Given the description of an element on the screen output the (x, y) to click on. 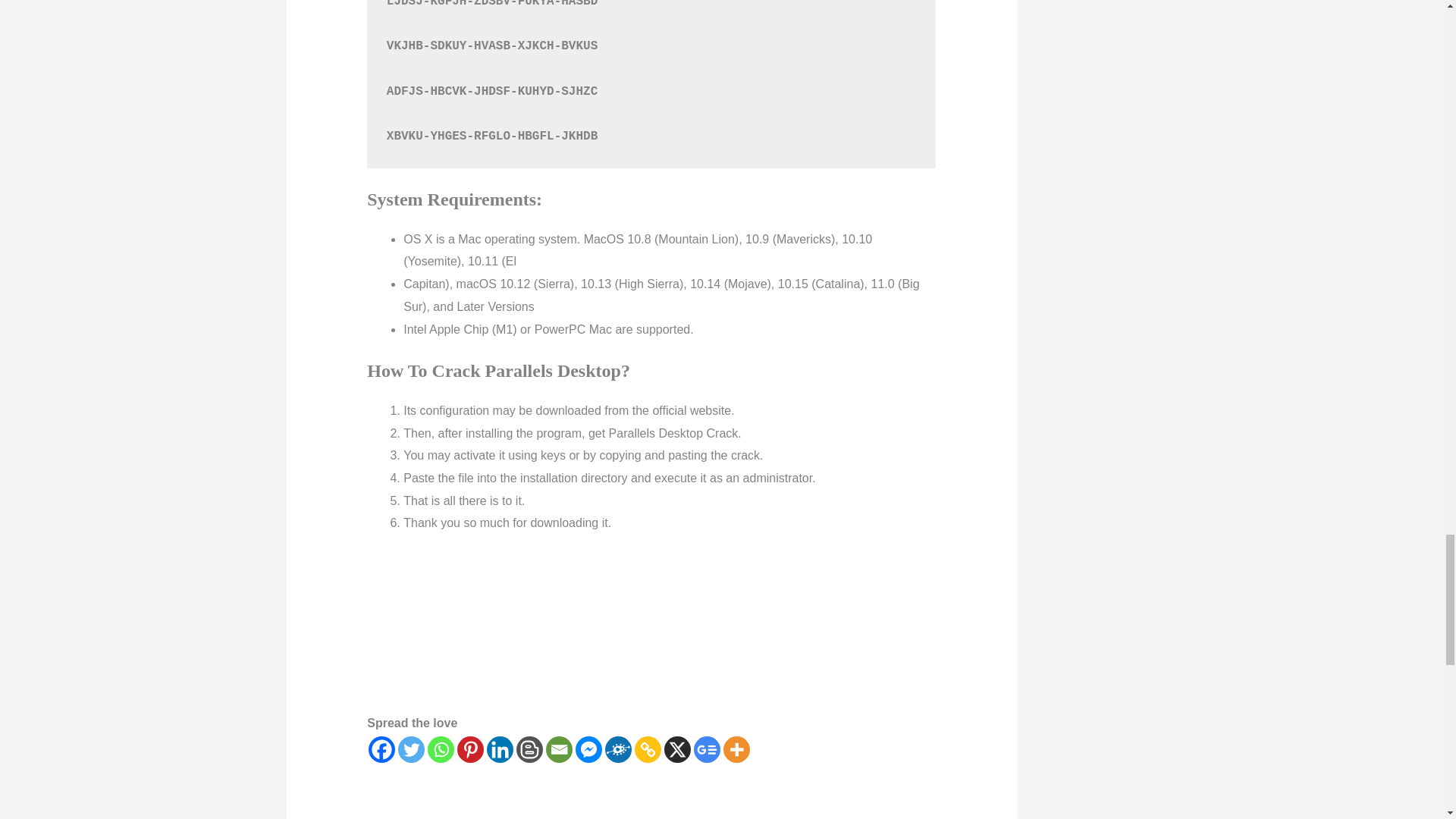
Pinterest (470, 749)
Copy Link (647, 749)
Email (559, 749)
Blogger Post (529, 749)
Whatsapp (441, 749)
Twitter (411, 749)
Folkd (618, 749)
Linkedin (499, 749)
Facebook (381, 749)
